Given the description of an element on the screen output the (x, y) to click on. 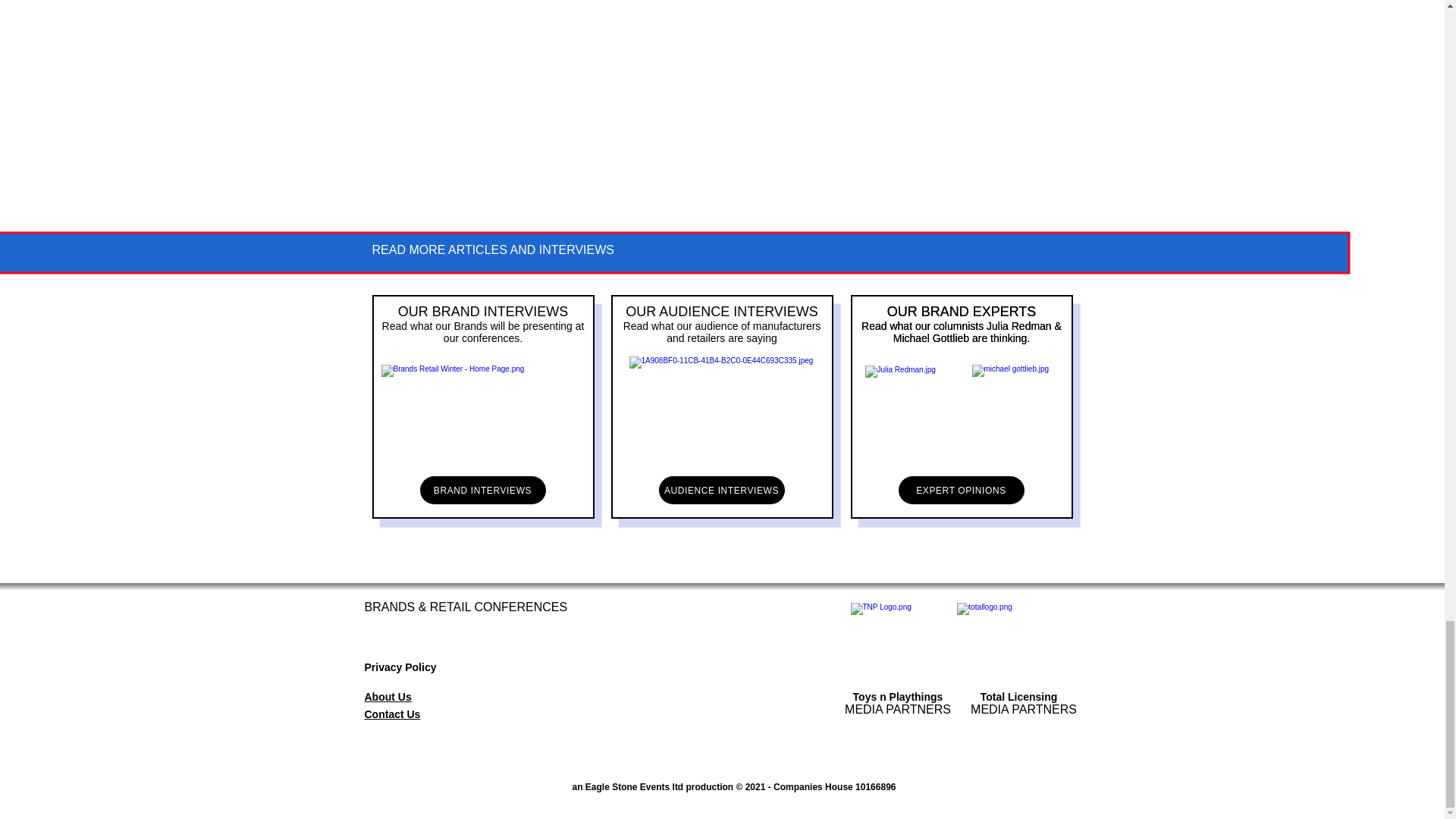
Contact Us (392, 714)
About Us (387, 696)
BRAND INTERVIEWS (483, 489)
EXPERT OPINIONS (960, 489)
AUDIENCE INTERVIEWS (721, 489)
